Given the description of an element on the screen output the (x, y) to click on. 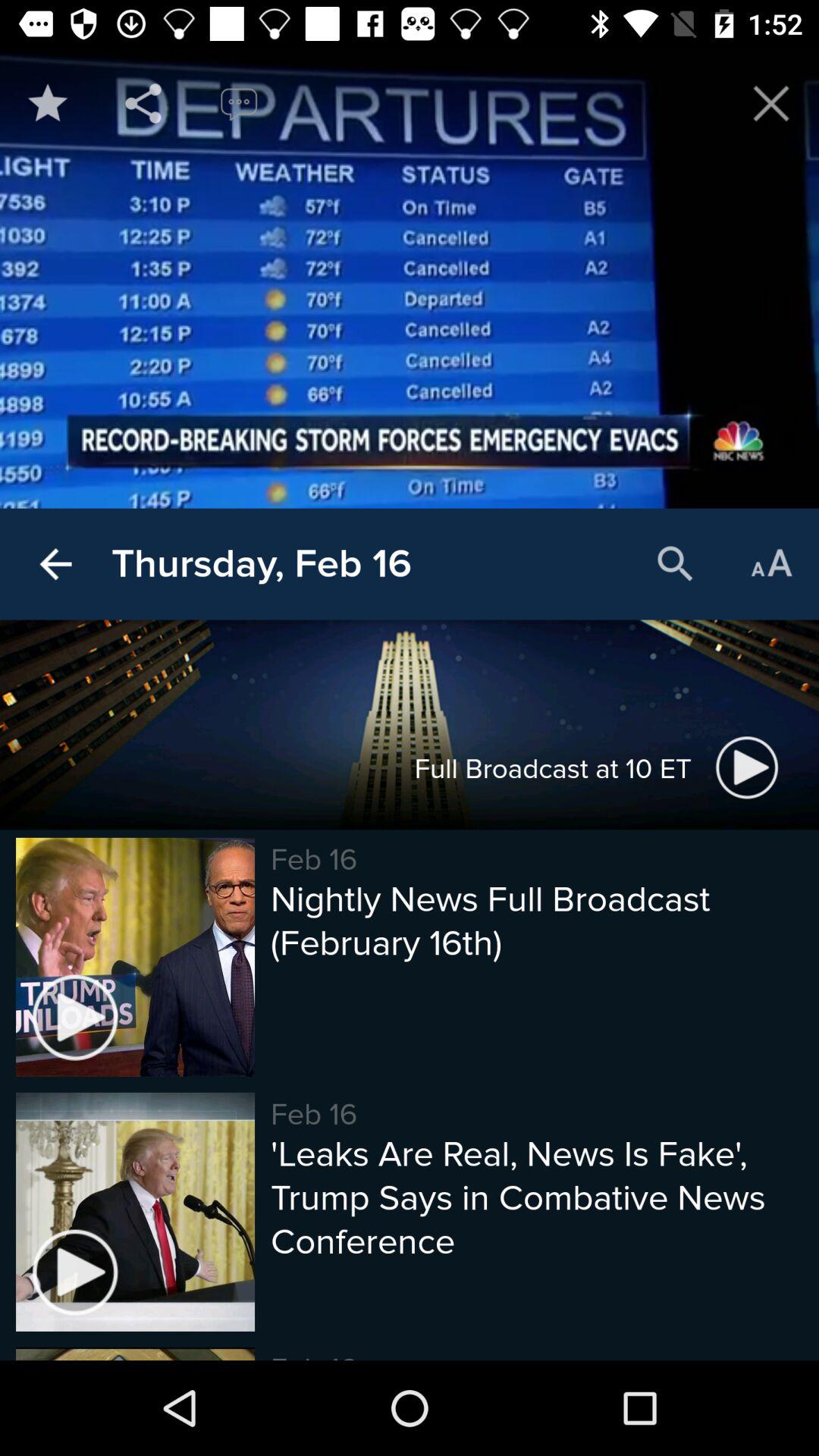
click on the last image at the bottom of the page (134, 1212)
click the first play button on the web page (747, 767)
click on the image beside nightly news full broadcast at the bottom of the page (134, 957)
click the button on the right next to the share button on the web page (238, 103)
